Given the description of an element on the screen output the (x, y) to click on. 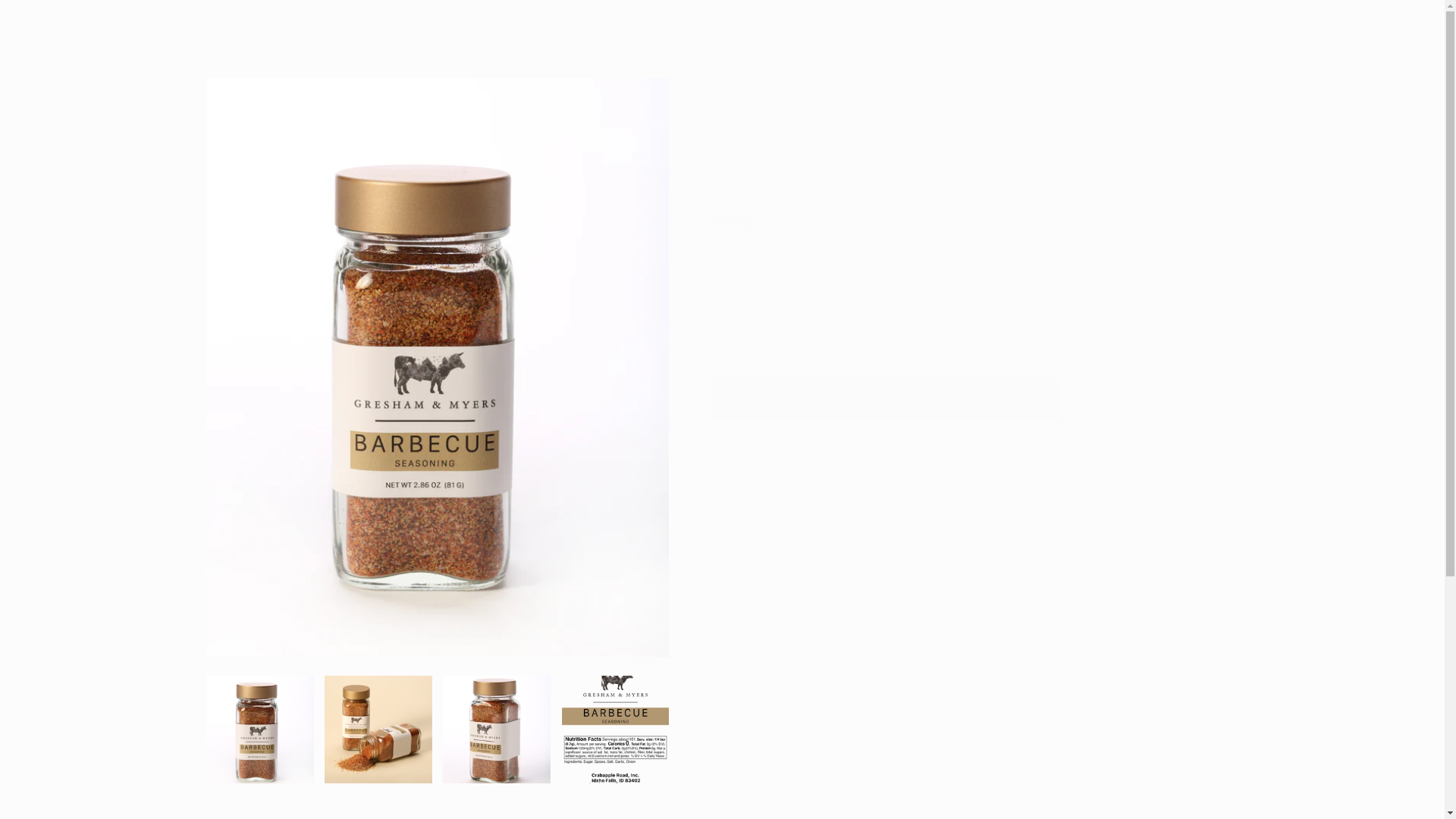
Cart (1225, 17)
1 (764, 343)
Gresham and Myers (721, 17)
About us (906, 59)
Skip to content (48, 18)
Wholesale (835, 59)
Gift Boxes (698, 59)
Recipes (766, 59)
